Given the description of an element on the screen output the (x, y) to click on. 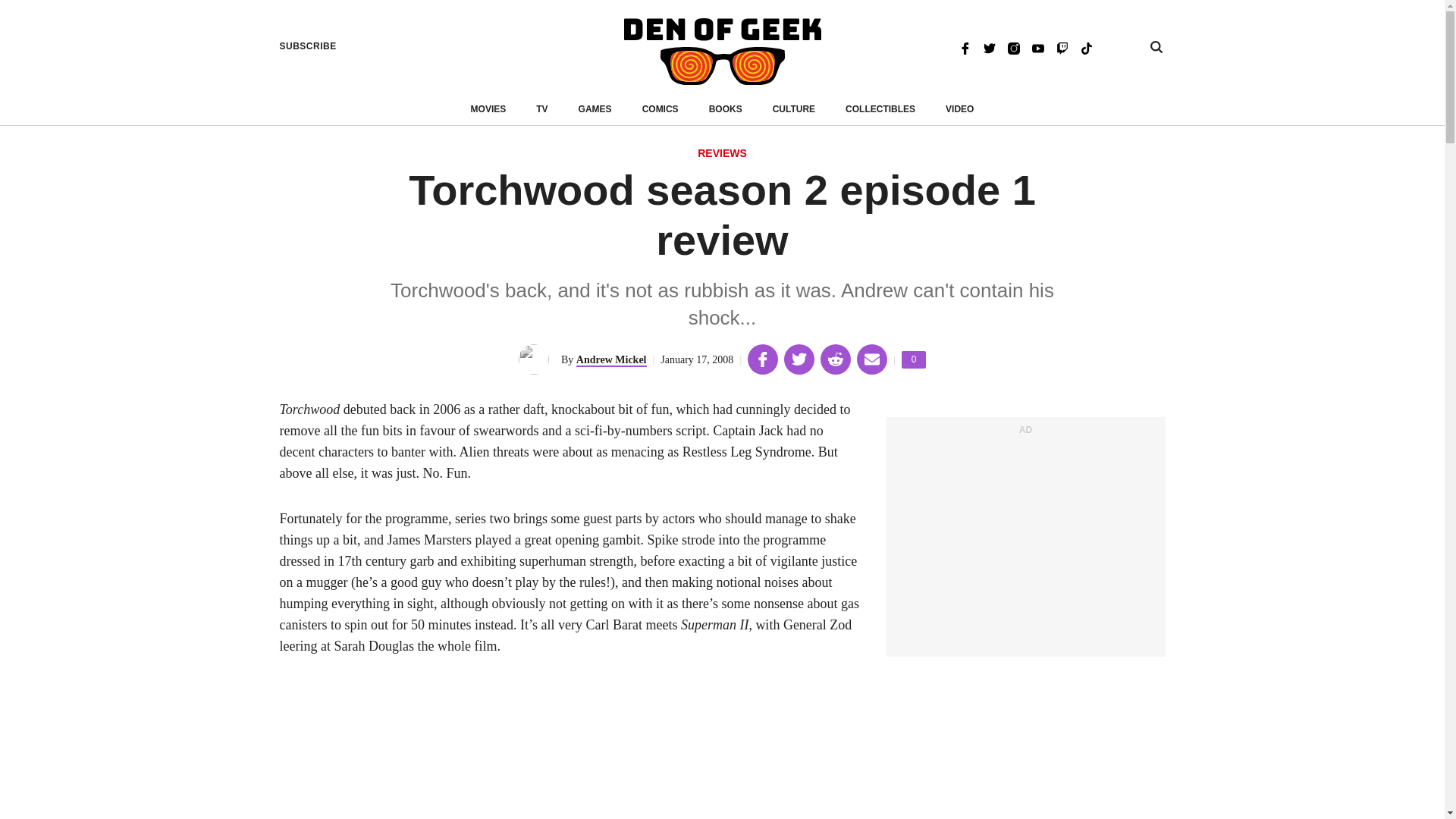
Instagram (1013, 46)
REVIEWS (721, 153)
Andrew Mickel (611, 359)
CULTURE (794, 109)
SUBSCRIBE (307, 46)
COMICS (913, 359)
GAMES (660, 109)
Twitch (594, 109)
VIDEO (1061, 46)
